Given the description of an element on the screen output the (x, y) to click on. 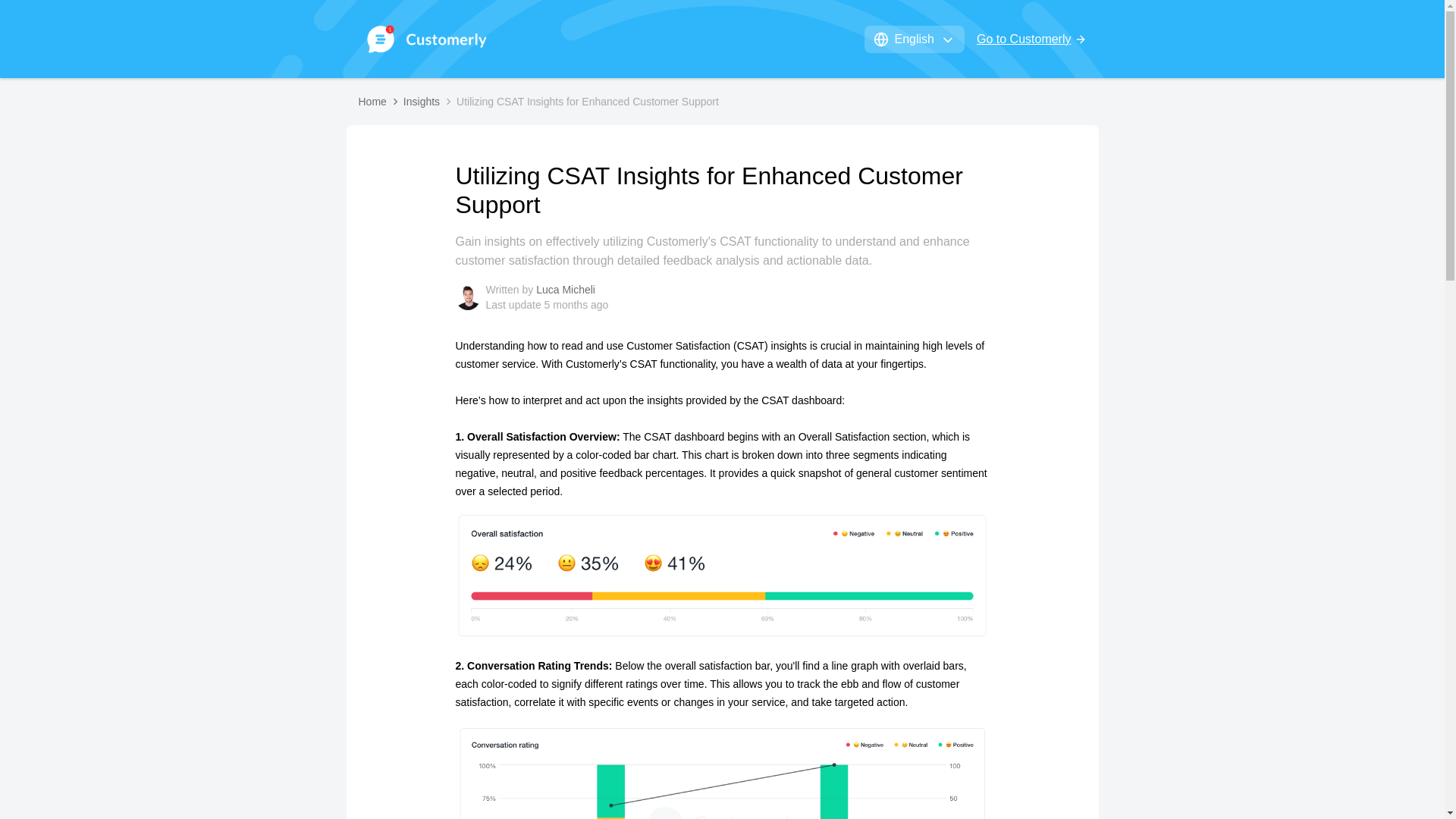
Insights (421, 101)
Utilizing CSAT Insights for Enhanced Customer Support (588, 101)
Go to Customerly (1031, 39)
Home (371, 101)
